Given the description of an element on the screen output the (x, y) to click on. 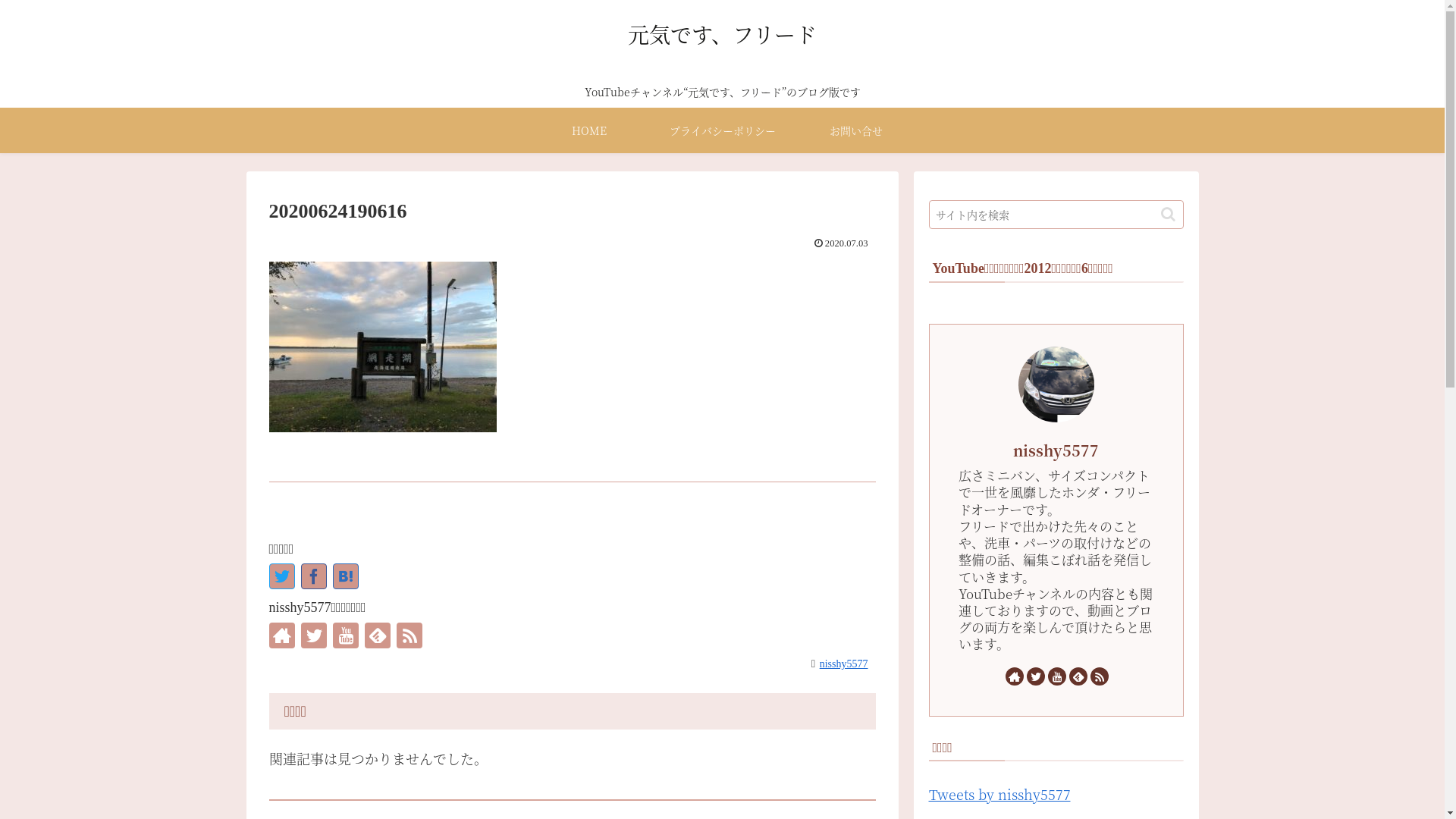
nisshy5577 Element type: text (846, 663)
20200624190616 Element type: hover (344, 576)
Tweets by nisshy5577 Element type: text (999, 793)
nisshy5577 Element type: text (1055, 450)
HOME Element type: text (588, 130)
